Given the description of an element on the screen output the (x, y) to click on. 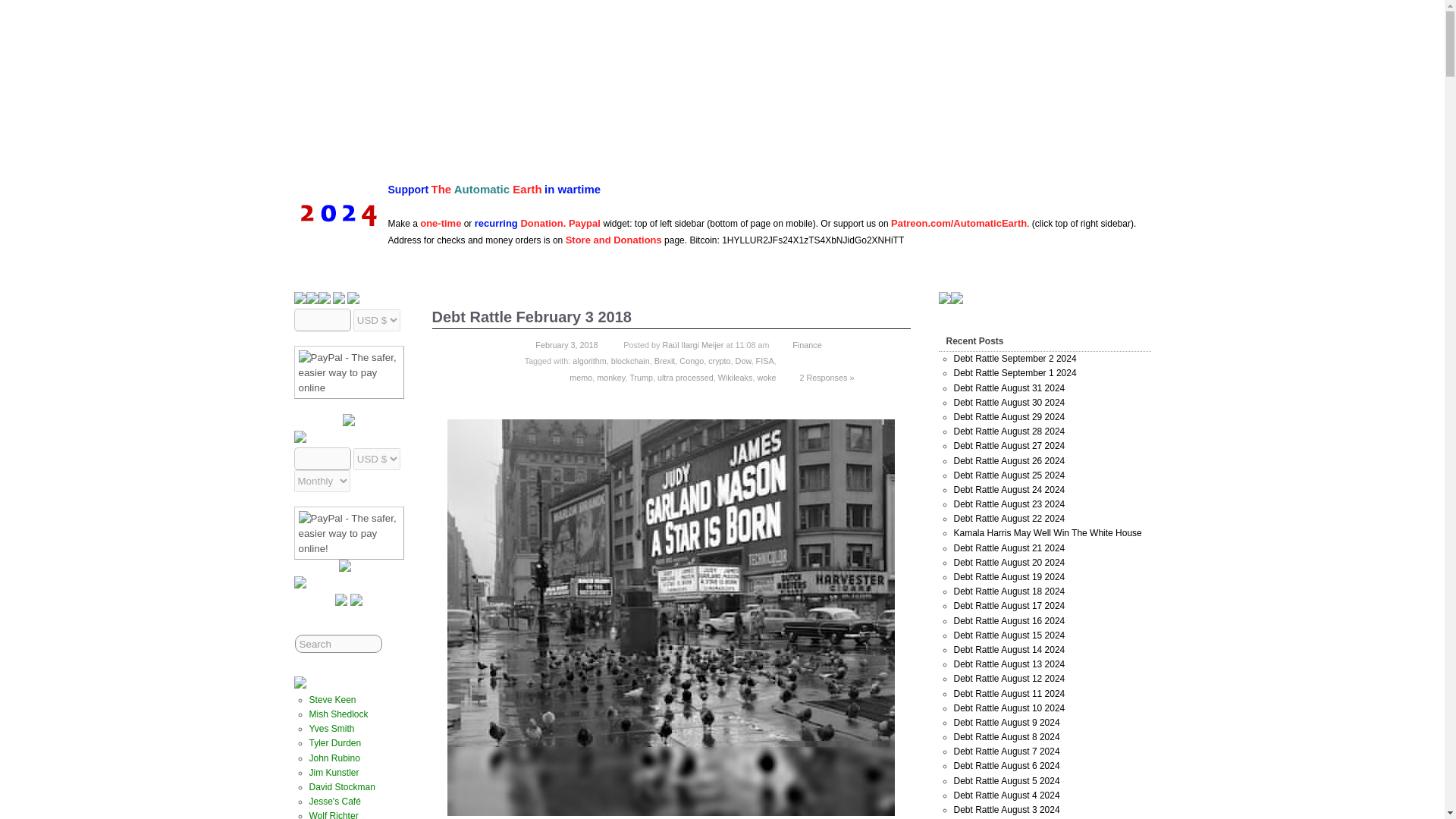
Finance (806, 344)
Primers (680, 143)
ultra processed (685, 377)
Debt Rattle February 3 2018 (531, 316)
blockchain (630, 360)
Archives (577, 143)
memo (580, 377)
Forum (789, 143)
Trump (640, 377)
The Automatic Earth (860, 36)
